Given the description of an element on the screen output the (x, y) to click on. 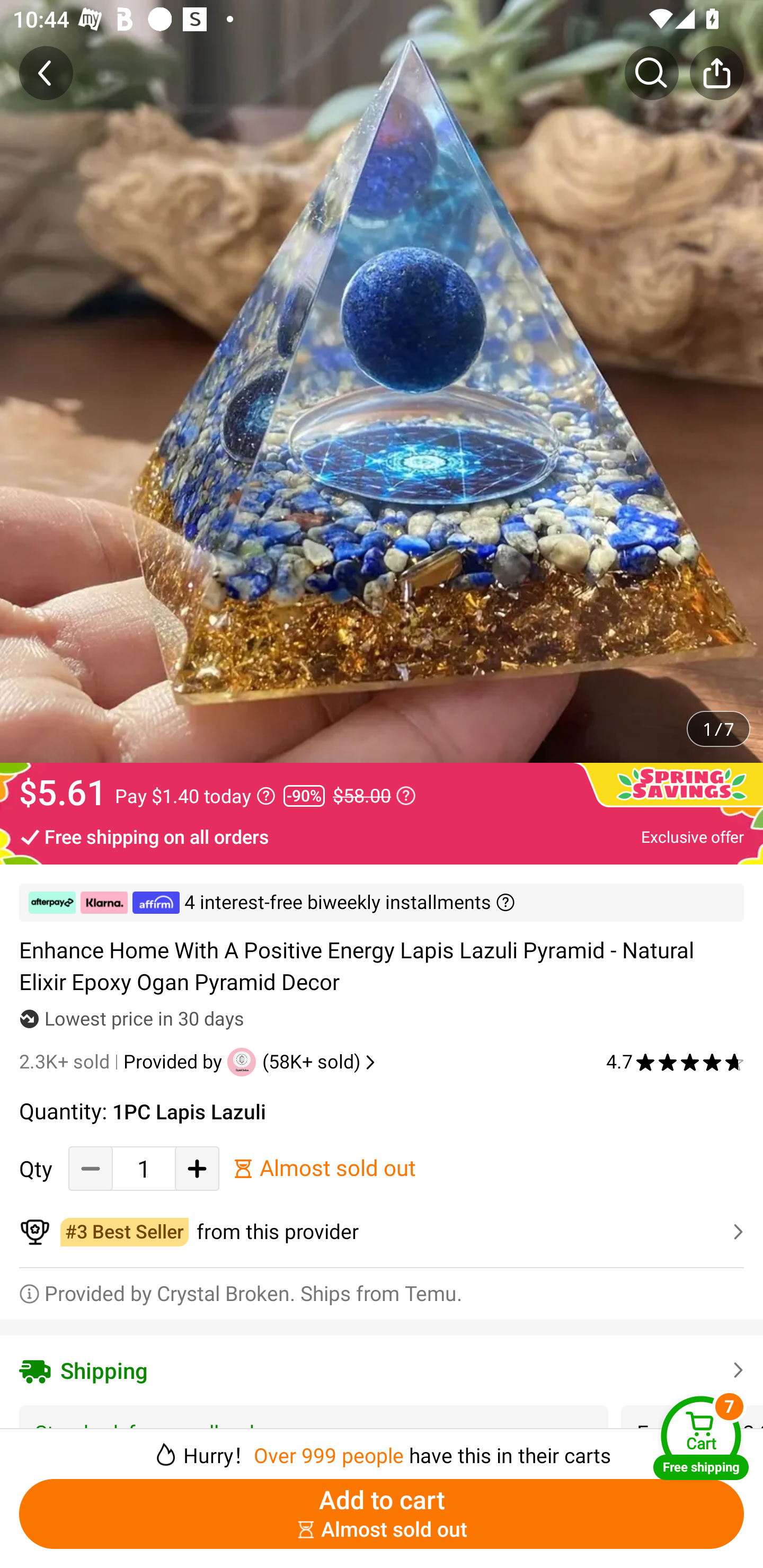
Back (46, 72)
Share (716, 72)
Pay $1.40 today   (195, 795)
Free shipping on all orders Exclusive offer (381, 836)
￼ ￼ ￼ 4 interest-free biweekly installments ￼ (381, 902)
2.3K+ sold Provided by  (123, 1061)
4.7 (674, 1061)
Decrease Quantity Button (90, 1168)
1 (143, 1168)
Add Quantity button (196, 1168)
￼￼from this provider (381, 1231)
Shipping (381, 1369)
Cart Free shipping Cart (701, 1437)
￼￼Hurry！Over 999 people have this in their carts (381, 1448)
Add to cart ￼￼Almost sold out (381, 1513)
